Given the description of an element on the screen output the (x, y) to click on. 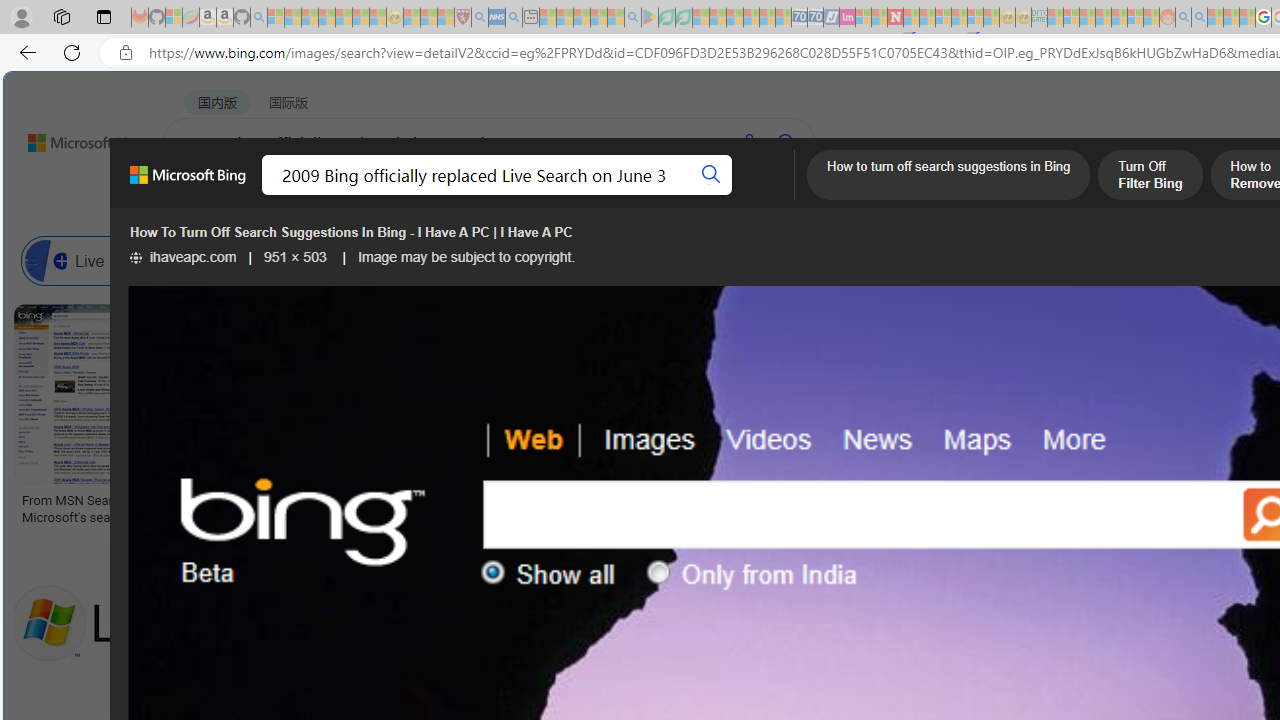
Bing Voice Search (213, 260)
Turn Off Filter Bing (1150, 177)
Back to Bing search (73, 138)
How to turn off search suggestions in Bing (948, 177)
Bing Logo Design Evolution 2009 to 2016 | Smithographic (1031, 507)
Live Search (45, 260)
DICT (717, 195)
ACADEMIC (635, 195)
